Given the description of an element on the screen output the (x, y) to click on. 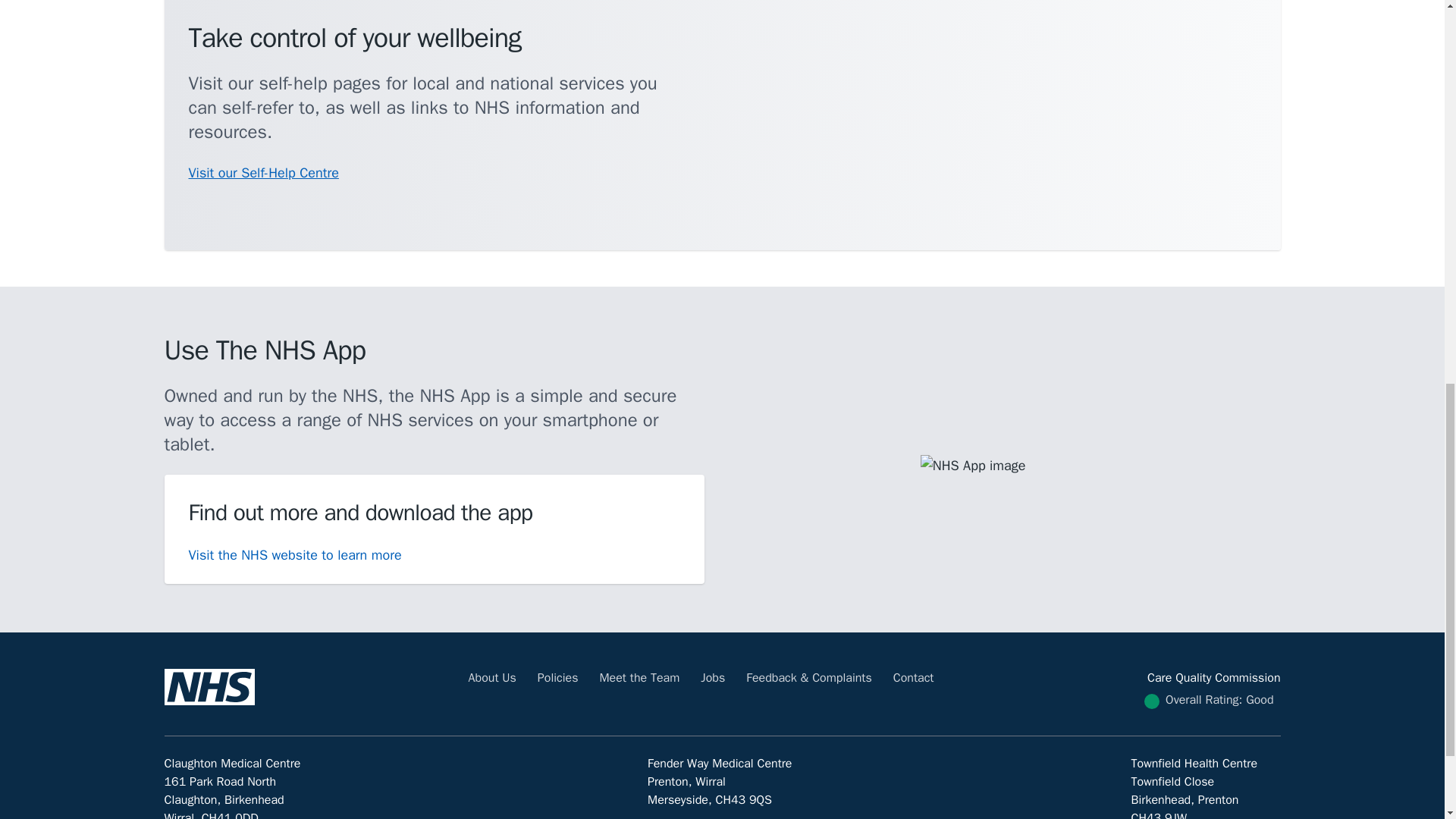
Meet the Team (638, 677)
Policies (557, 677)
About Us (492, 677)
Jobs (712, 677)
0151 652 1688 (753, 817)
Visit the NHS website to learn more (294, 555)
Overall Rating: Good (1220, 700)
Contact (913, 677)
Visit our Self-Help Centre (262, 172)
